Given the description of an element on the screen output the (x, y) to click on. 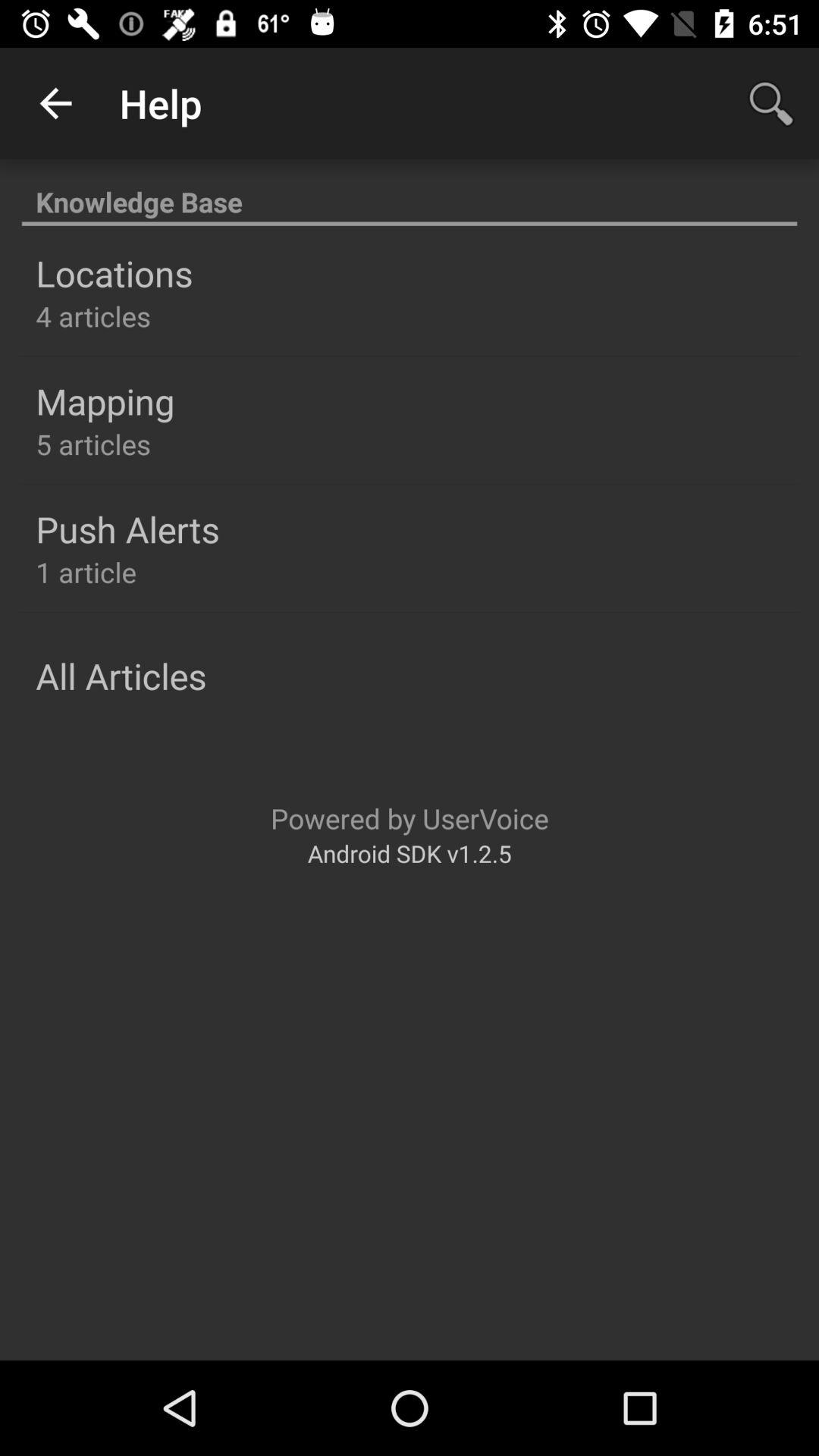
open item above 1 article icon (127, 529)
